Given the description of an element on the screen output the (x, y) to click on. 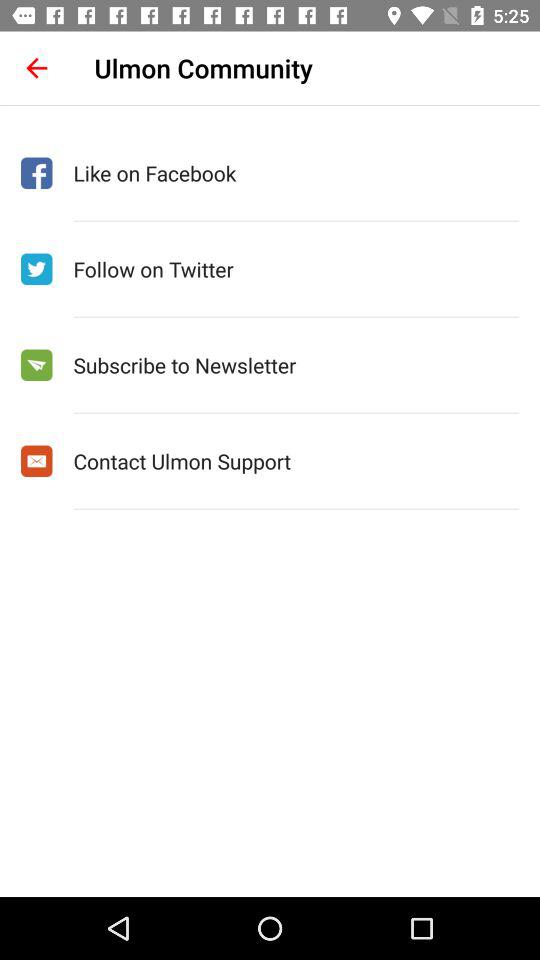
choose item to the left of the ulmon community item (36, 68)
